Given the description of an element on the screen output the (x, y) to click on. 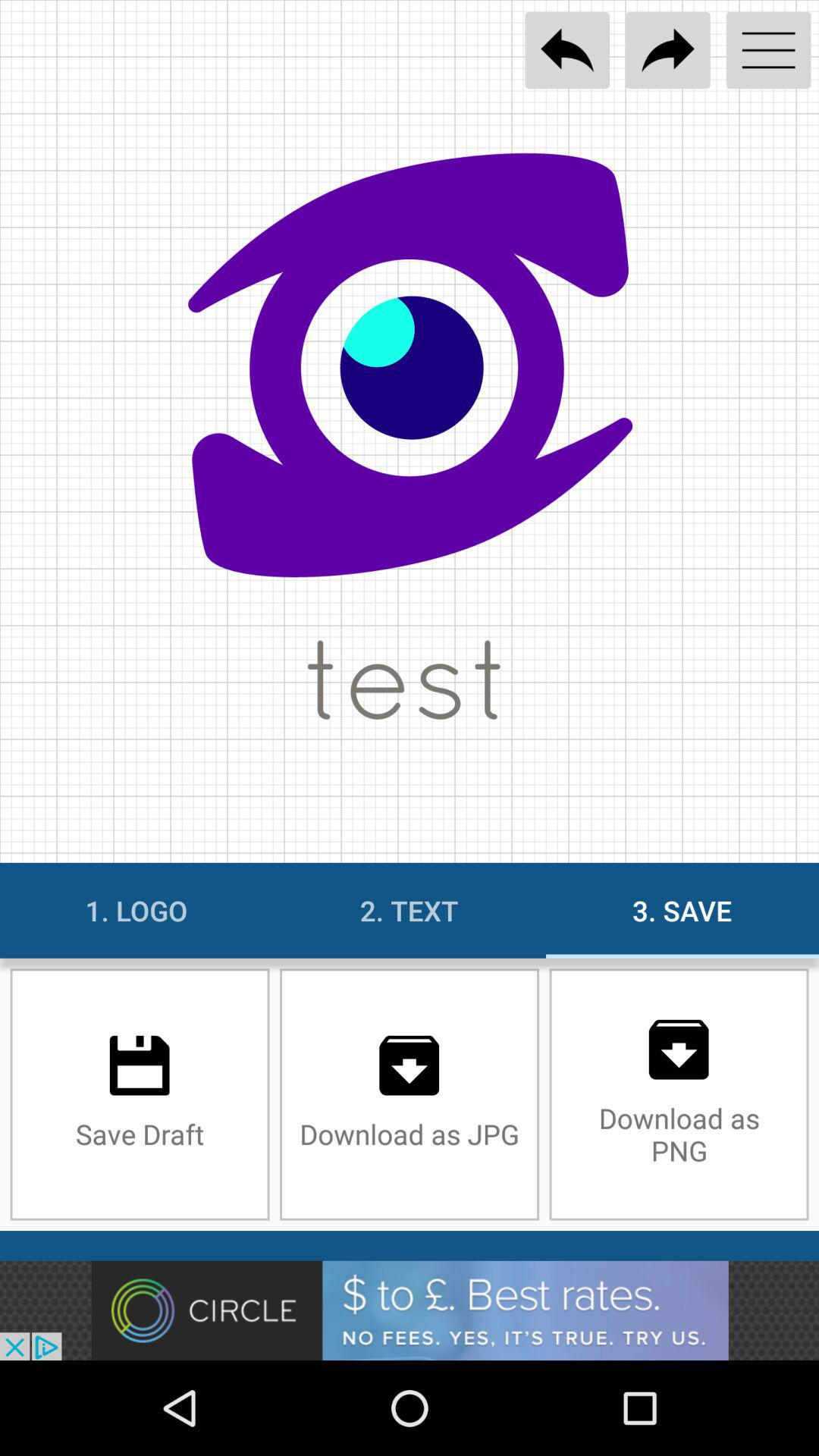
go frorward (667, 50)
